Given the description of an element on the screen output the (x, y) to click on. 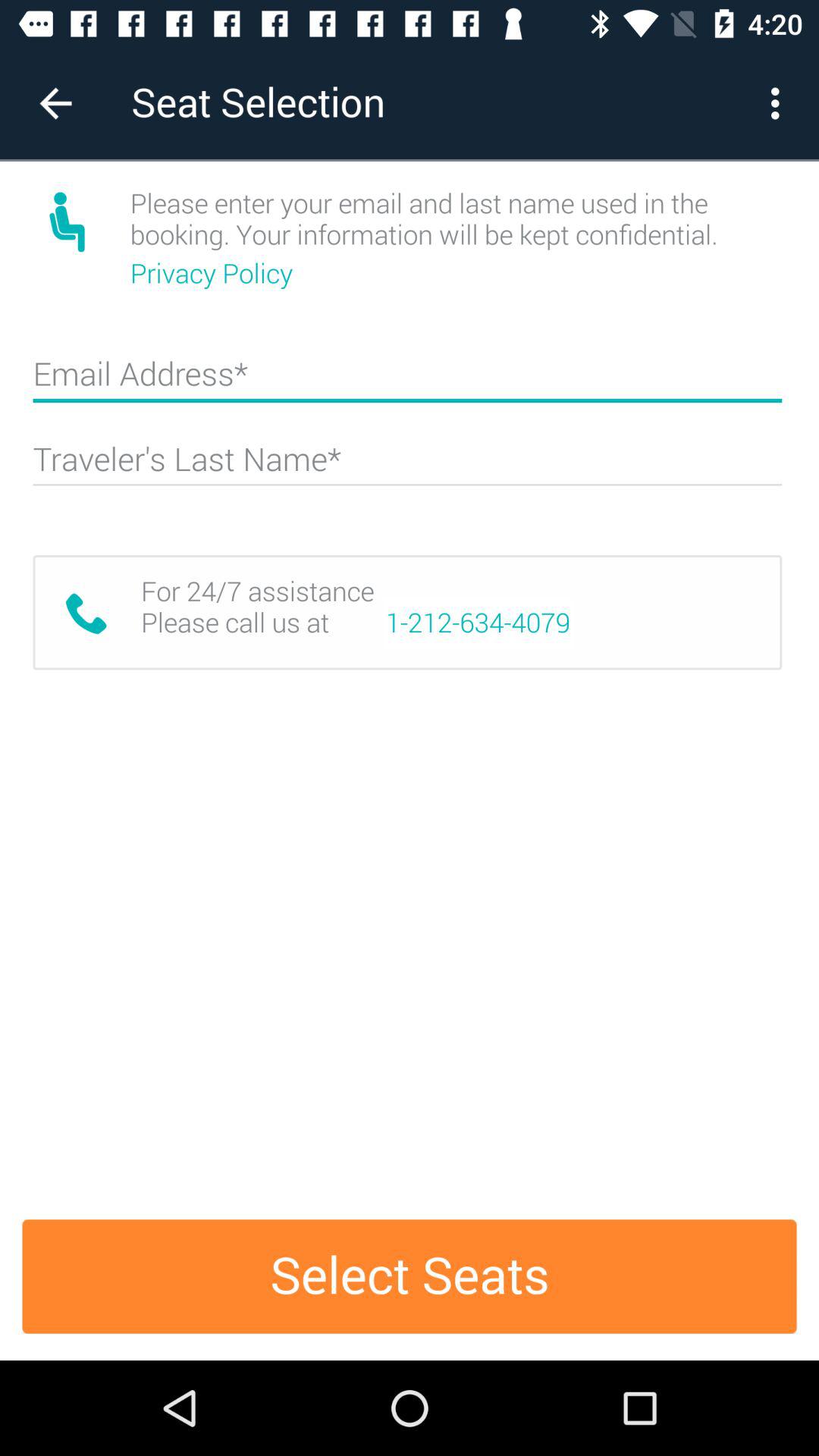
launch item below the for 24 7 item (409, 1276)
